Given the description of an element on the screen output the (x, y) to click on. 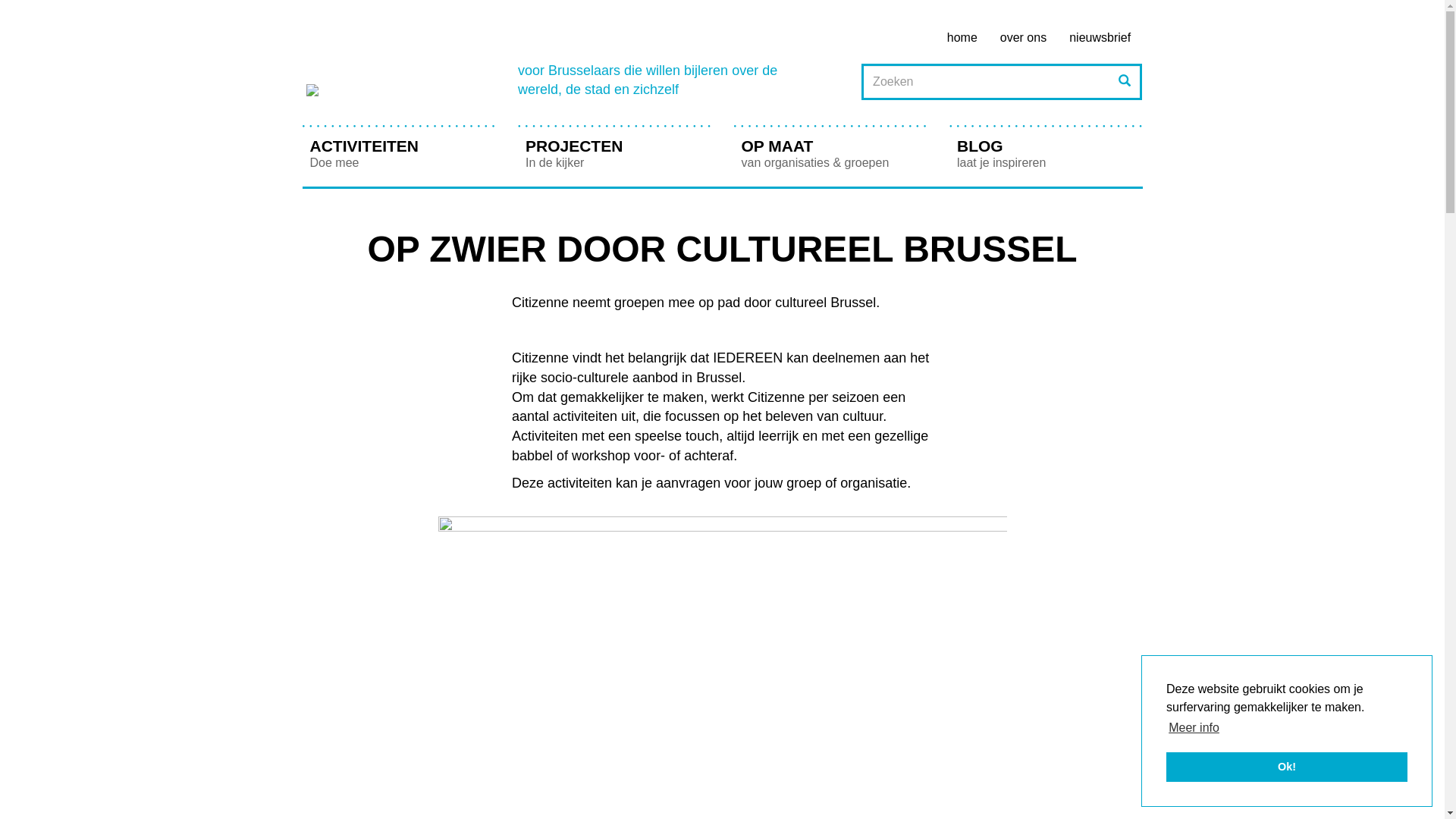
ACTIVITEITEN
Doe mee Element type: text (398, 154)
Zoeken Element type: text (1124, 81)
OP MAAT
van organisaties & groepen Element type: text (830, 154)
nieuwsbrief Element type: text (1099, 37)
BLOG
laat je inspireren Element type: text (1045, 154)
Overslaan en naar de inhoud gaan Element type: text (0, 11)
PROJECTEN
In de kijker Element type: text (614, 154)
over ons Element type: text (1022, 37)
Geef de woorden op waarnaar u wilt zoeken. Element type: hover (1001, 81)
Ok! Element type: text (1286, 767)
home Element type: text (961, 37)
Meer info Element type: text (1193, 727)
